Given the description of an element on the screen output the (x, y) to click on. 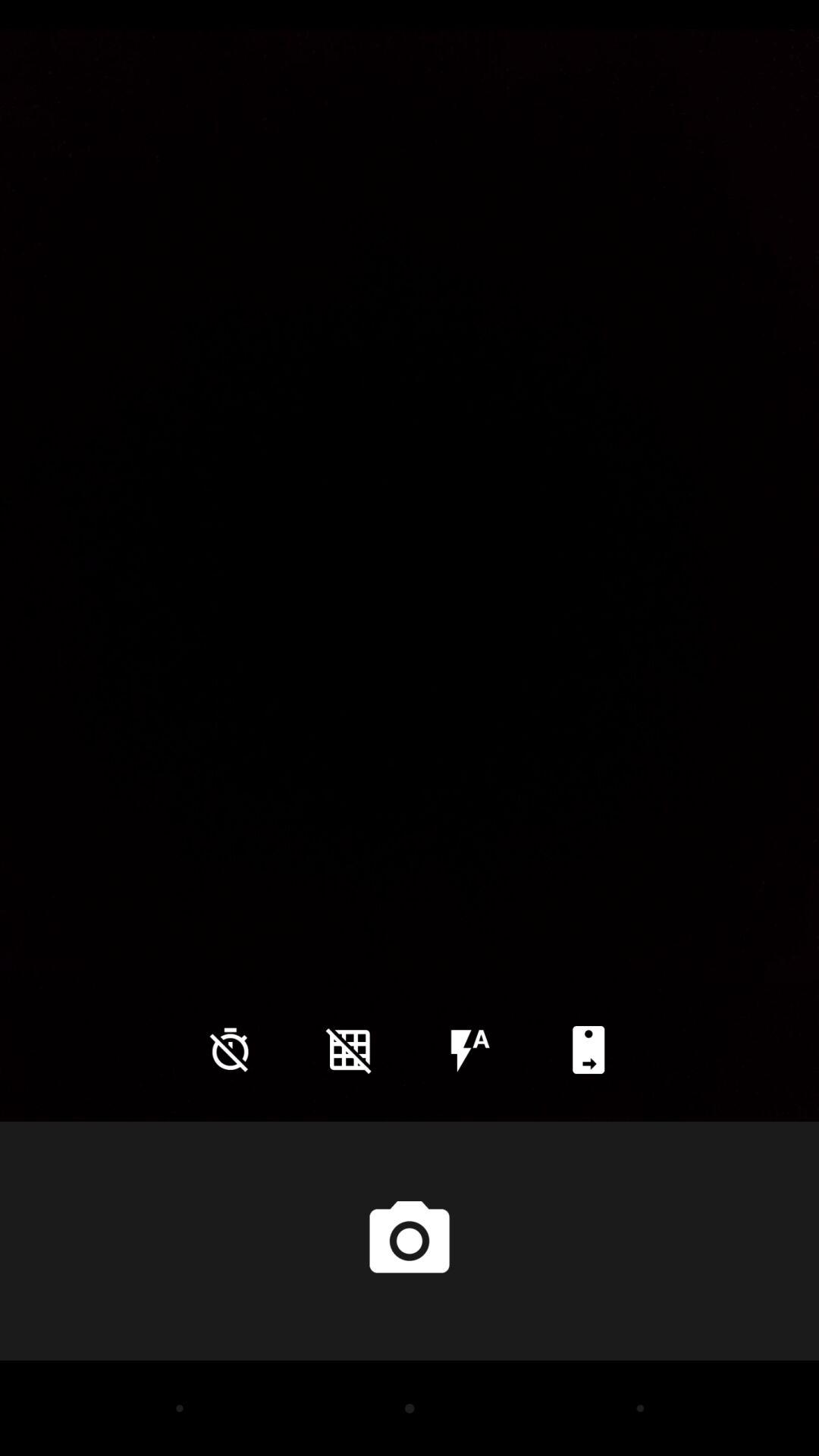
click the item at the bottom right corner (588, 1049)
